Given the description of an element on the screen output the (x, y) to click on. 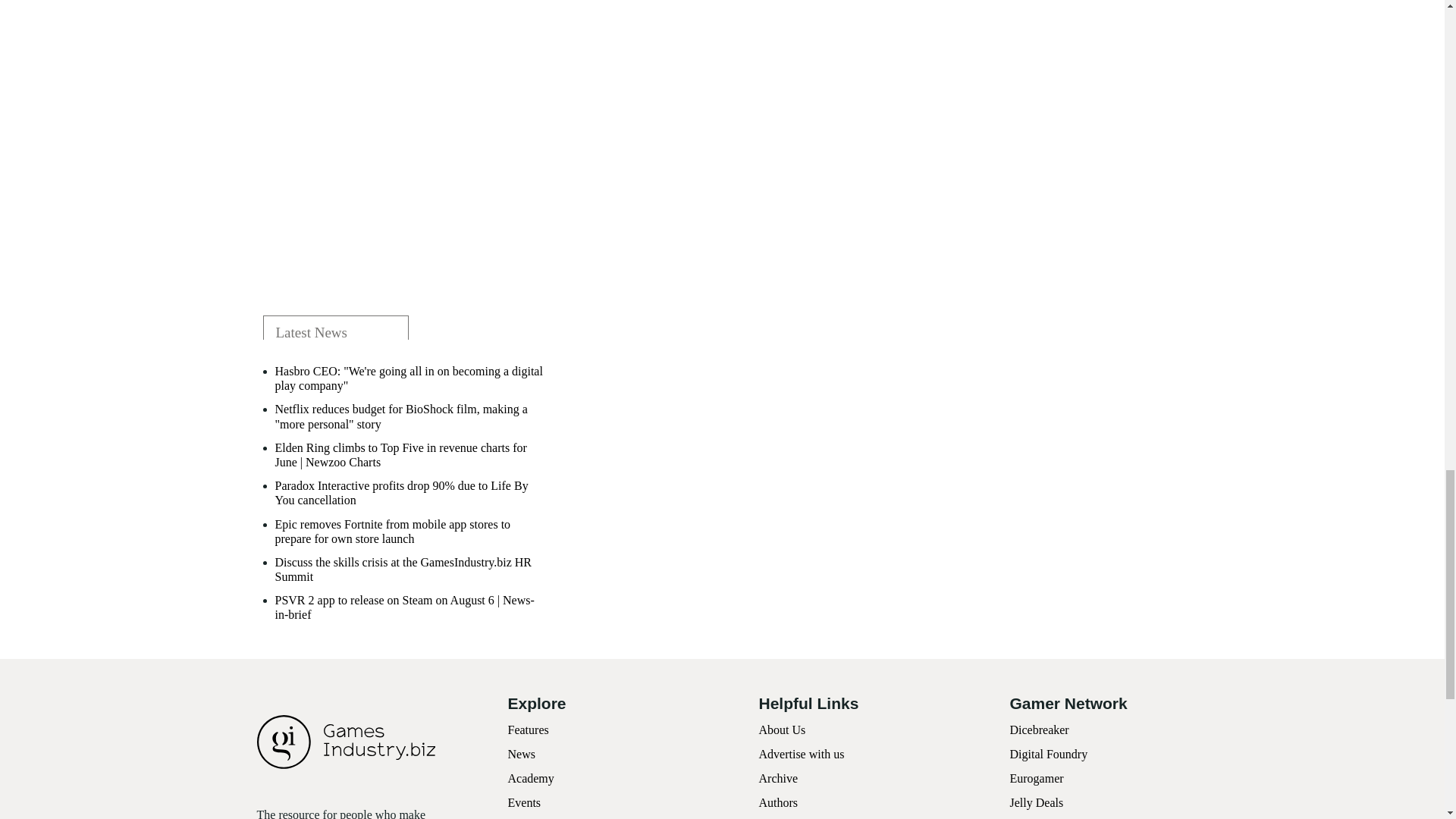
About Us (781, 729)
Advertise with us (801, 753)
News (521, 753)
Events (524, 802)
Features (528, 729)
Academy (531, 778)
Archive (777, 778)
Discuss the skills crisis at the GamesIndustry.biz HR Summit (409, 569)
